Given the description of an element on the screen output the (x, y) to click on. 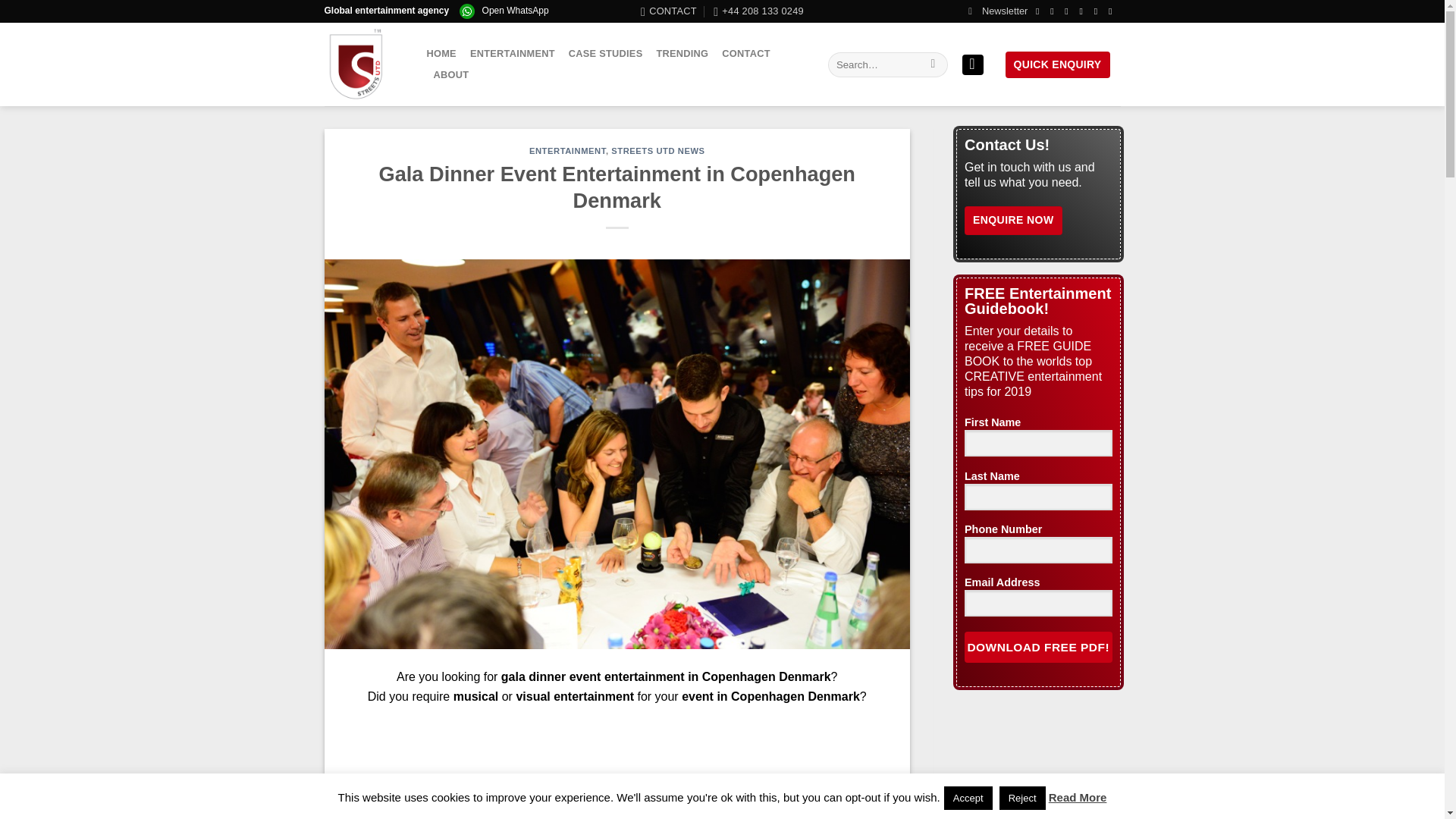
Search (932, 64)
CONTACT (668, 11)
Open WhatsApp (514, 9)
ENTERTAINMENT (512, 53)
STREETS UTD NEWS (657, 150)
ENTERTAINMENT (567, 150)
Digital Tablet - ipad Caricature Artist (617, 770)
QUICK ENQUIRY (1057, 64)
FREE Entertainment Guidebook! (997, 11)
ABOUT (450, 74)
HOME (440, 53)
CONTACT (746, 53)
CASE STUDIES (606, 53)
Newsletter (997, 11)
TRENDING (681, 53)
